Given the description of an element on the screen output the (x, y) to click on. 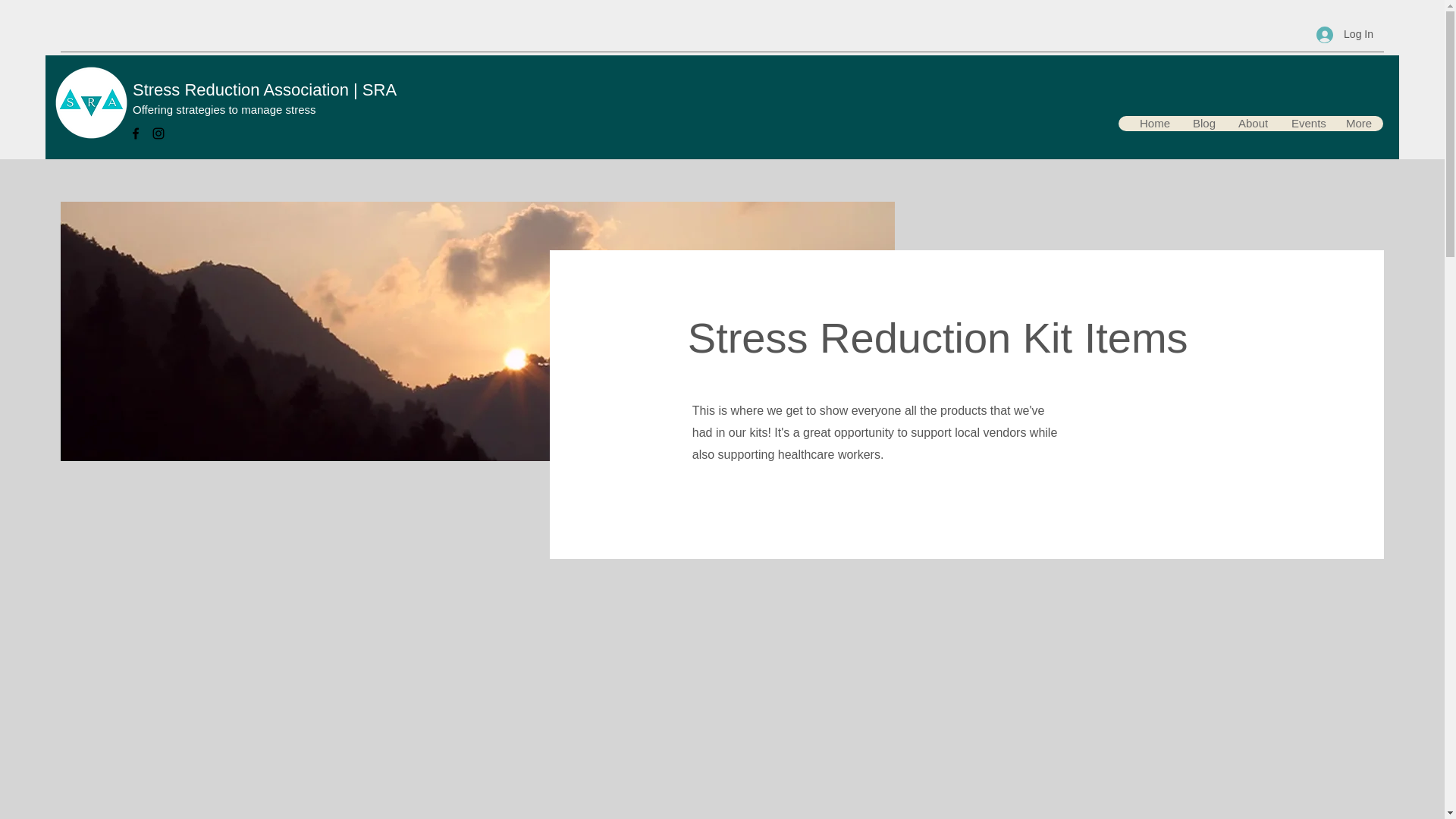
Log In (1345, 34)
Blog (1202, 123)
About (1252, 123)
Events (1306, 123)
Home (1153, 123)
